Given the description of an element on the screen output the (x, y) to click on. 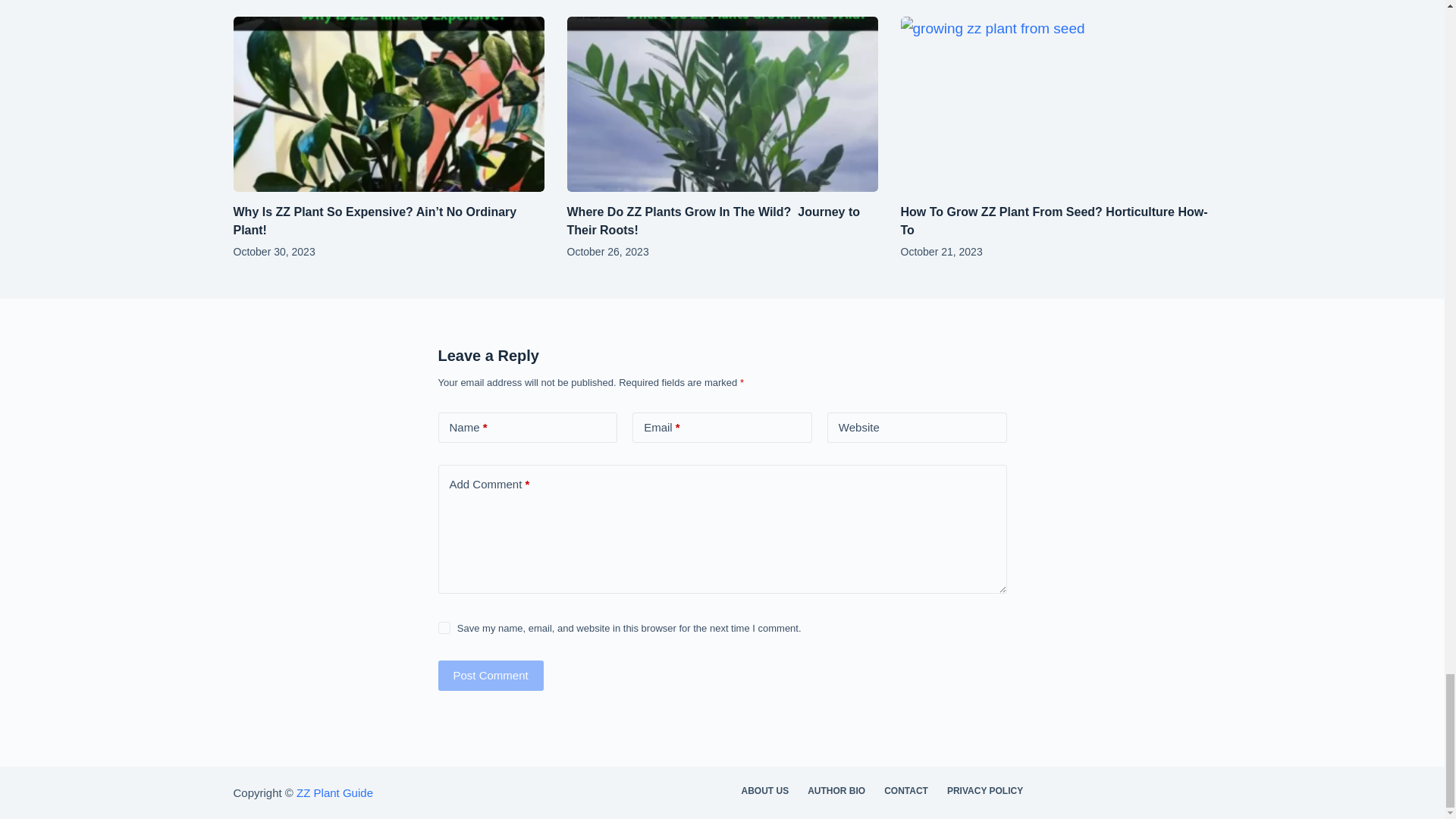
yes (443, 627)
Post Comment (490, 675)
ZZ Plant Guide (334, 792)
ABOUT US (764, 791)
How To Grow ZZ Plant From Seed? Horticulture How-To (1054, 220)
